Given the description of an element on the screen output the (x, y) to click on. 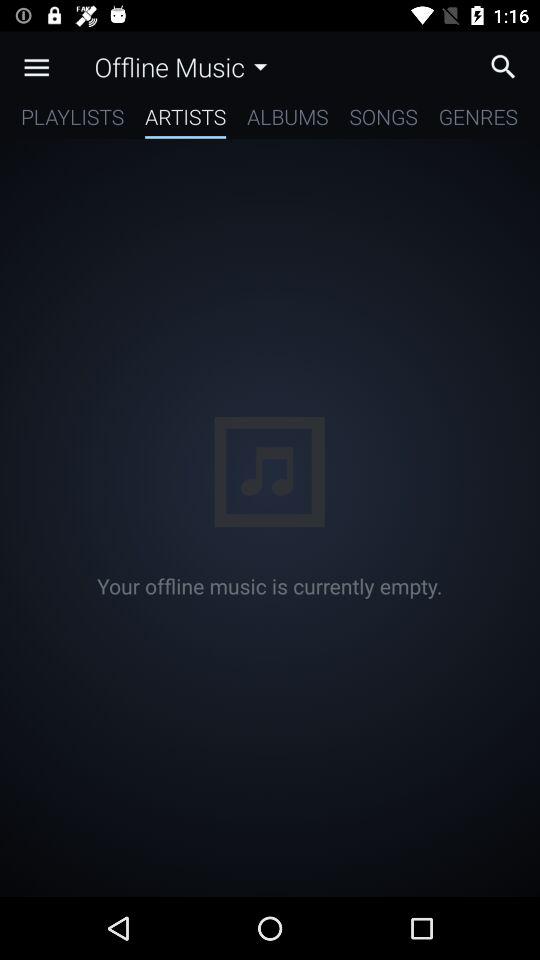
open the item next to the albums item (185, 120)
